Given the description of an element on the screen output the (x, y) to click on. 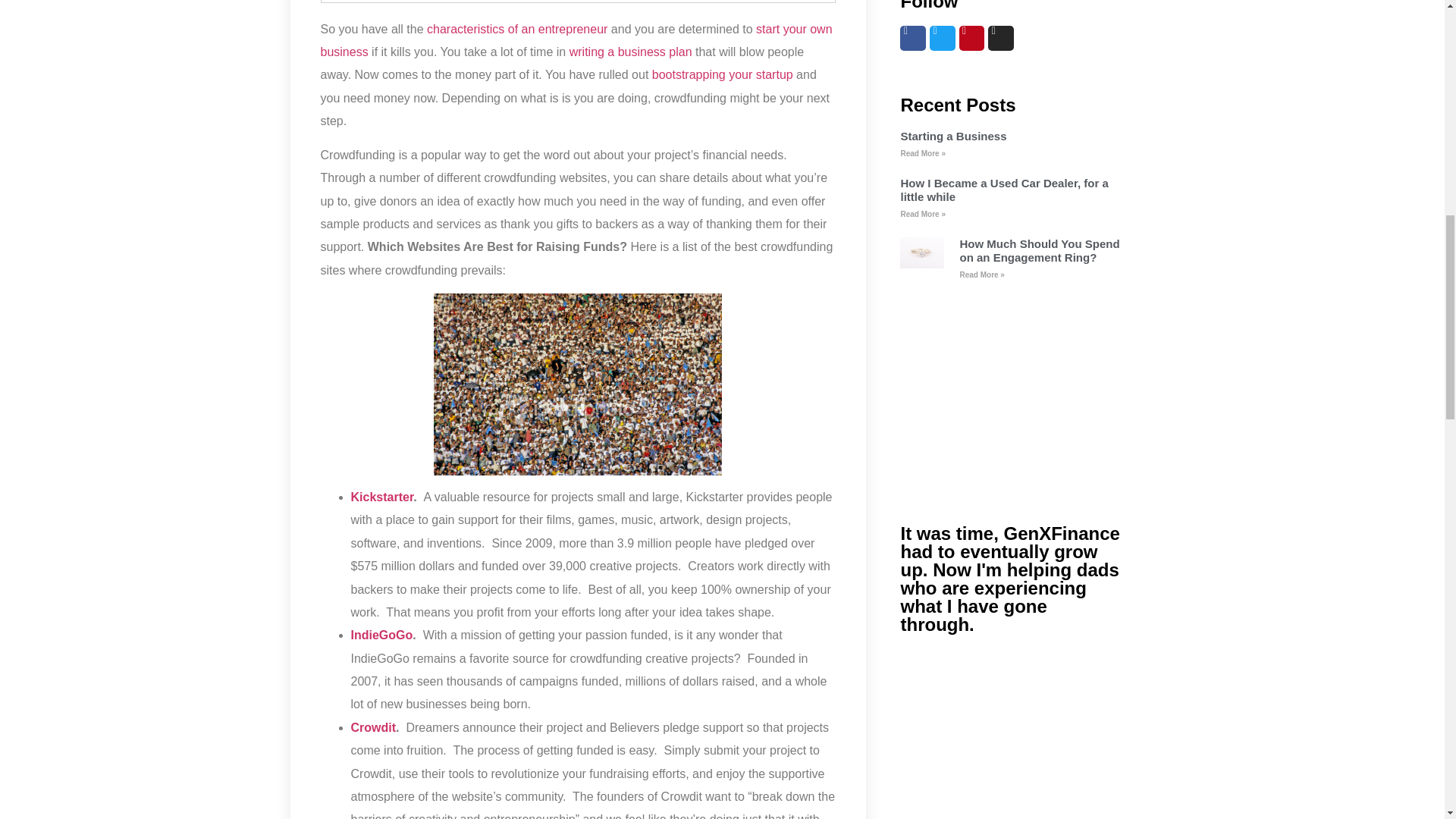
bootstrapping your startup (722, 74)
Kickstarter (381, 496)
characteristics of an entrepreneur (518, 29)
writing a business plan (631, 51)
Starting a Business (952, 135)
How I Became a Used Car Dealer, for a little while (1003, 189)
start your own business (575, 40)
writing a business plan (631, 51)
IndieGoGo (381, 634)
Crowdit (373, 727)
